Given the description of an element on the screen output the (x, y) to click on. 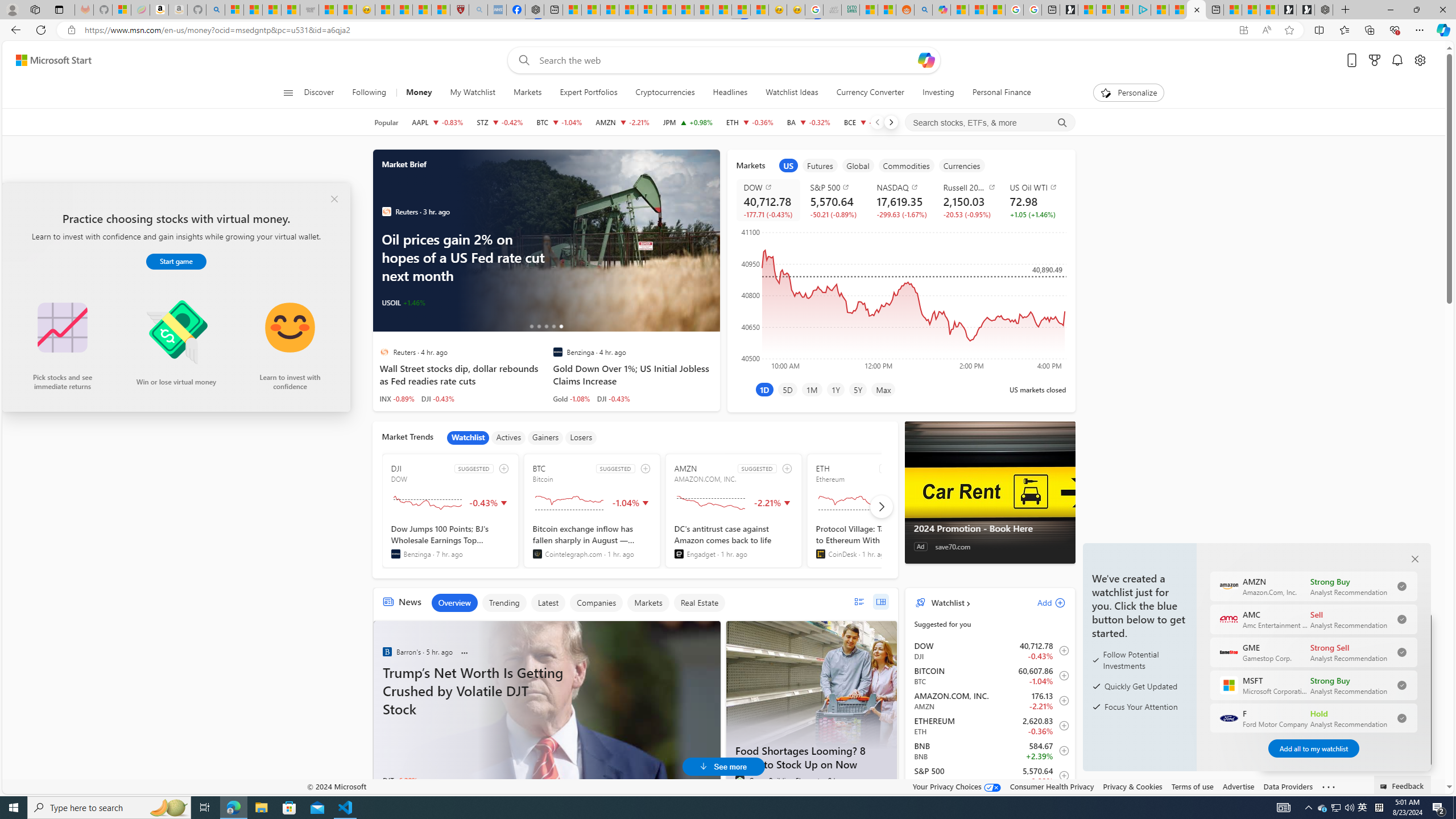
Green Building Elements (739, 779)
Open navigation menu (287, 92)
Workspaces (34, 9)
Stocks - MSN (290, 9)
Popular (386, 121)
1Y (835, 389)
Open Copilot (925, 59)
Class: button-glyph (287, 92)
Next (890, 122)
Collections (1369, 29)
Recipes - MSN (383, 9)
